Given the description of an element on the screen output the (x, y) to click on. 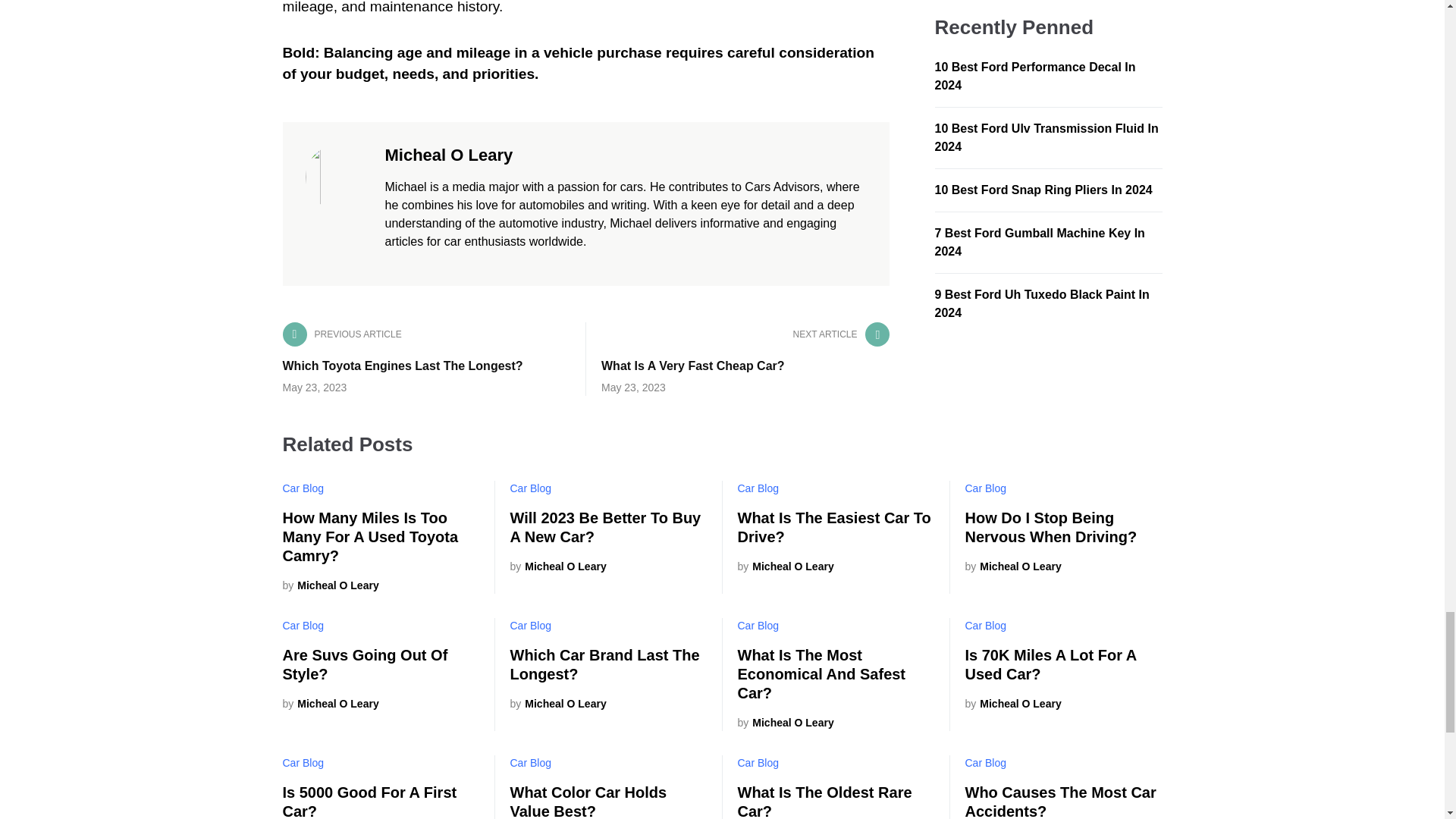
View all posts by Micheal O Leary (1012, 566)
View all posts by Micheal O Leary (1012, 703)
View all posts by Micheal O Leary (330, 585)
View all posts by Micheal O Leary (784, 722)
View all posts by Micheal O Leary (557, 703)
View all posts by Micheal O Leary (557, 566)
View all posts by Micheal O Leary (330, 703)
View all posts by Micheal O Leary (784, 566)
